Given the description of an element on the screen output the (x, y) to click on. 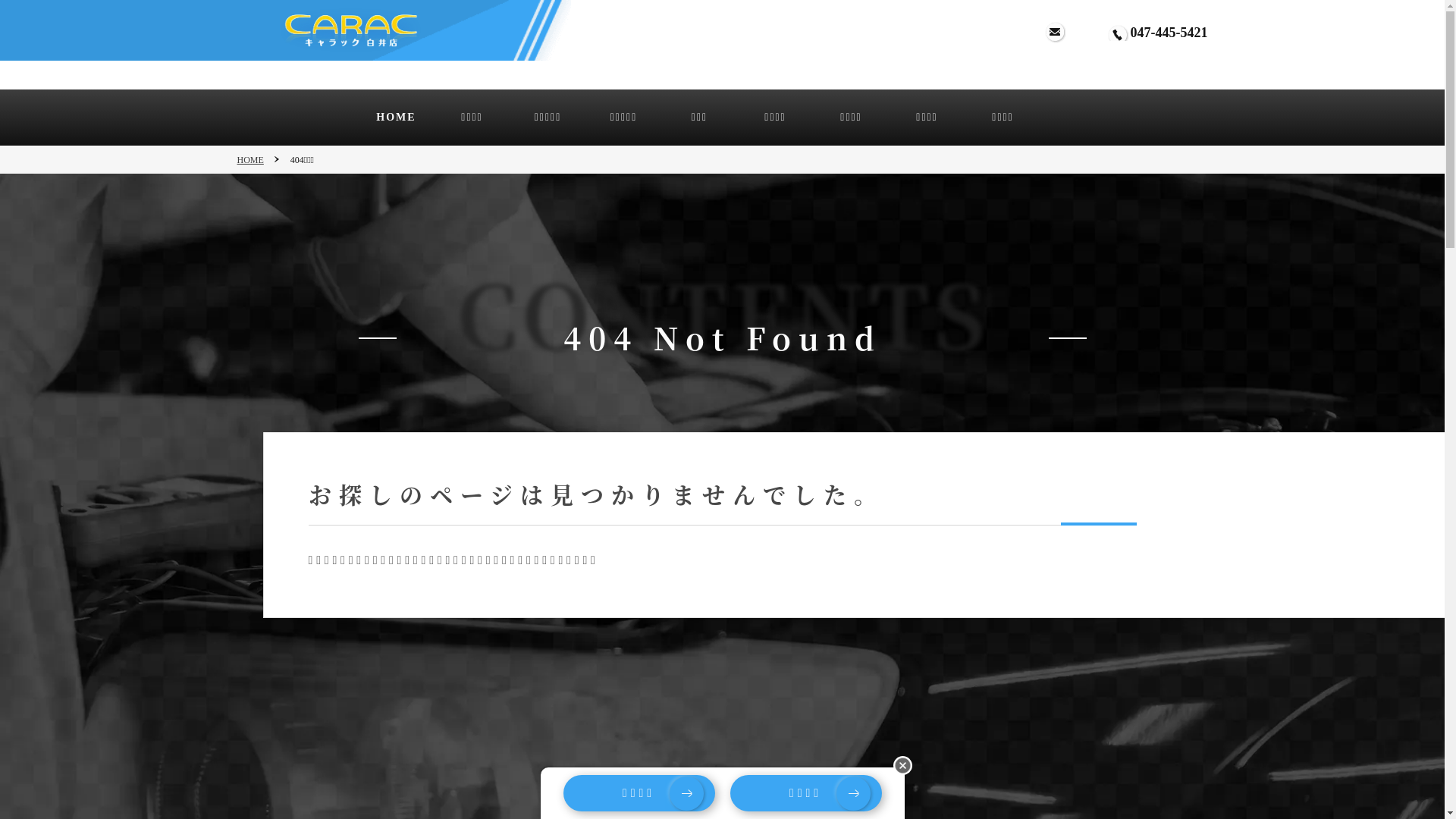
HOME Element type: text (395, 117)
HOME Element type: text (257, 160)
047-445-5421 Element type: text (1168, 32)
